Given the description of an element on the screen output the (x, y) to click on. 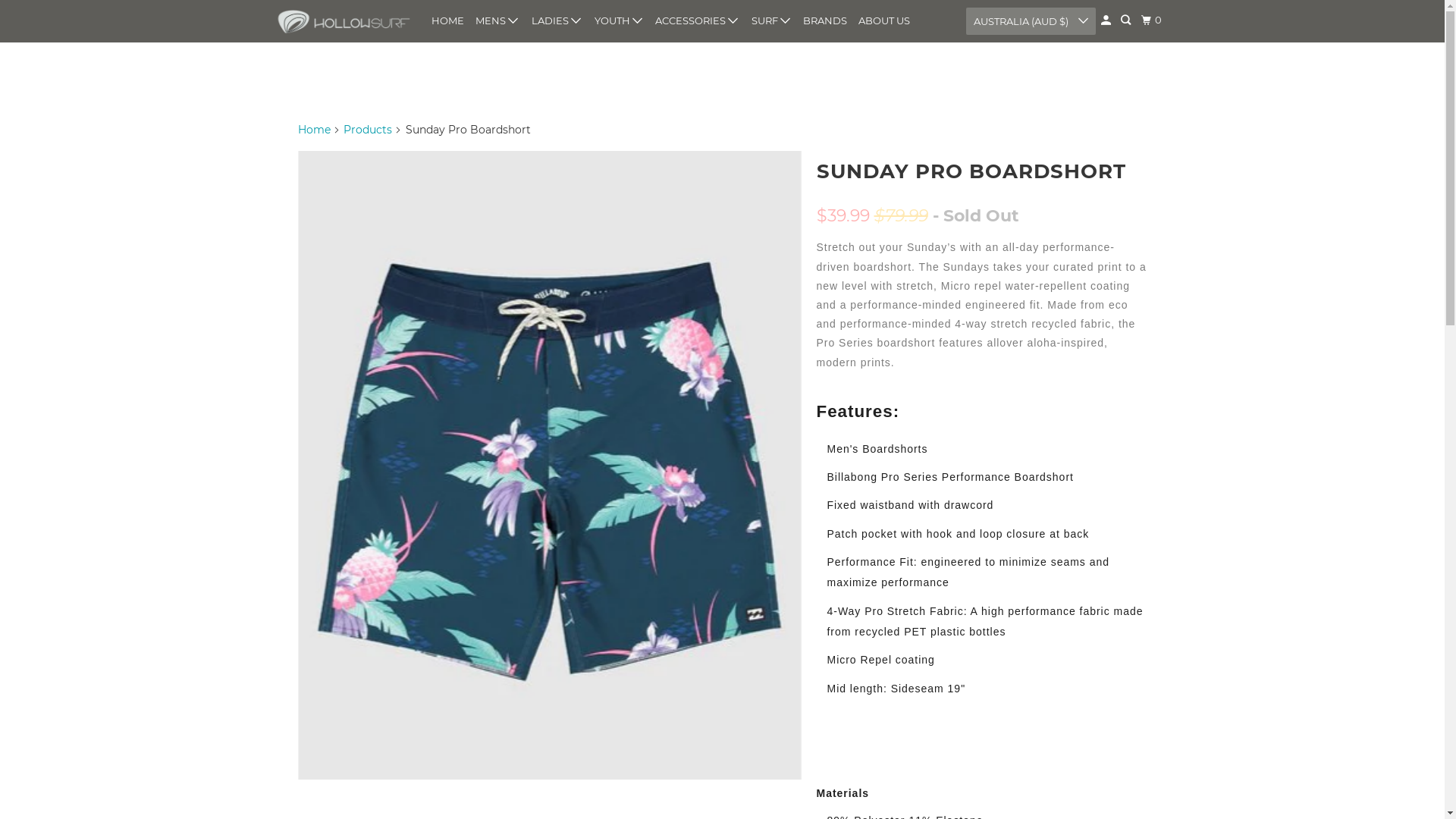
Hollow Surf Shop Element type: hover (342, 21)
Search Element type: hover (1126, 20)
ABOUT US Element type: text (884, 20)
HOME Element type: text (447, 20)
Home Element type: text (313, 129)
SUNDAY PRO BOARDSHORT Element type: text (970, 171)
Sunday Pro Boardshort Element type: hover (548, 464)
Products Element type: text (367, 129)
AUSTRALIA (AUD $) Element type: text (1030, 20)
BRANDS Element type: text (825, 20)
0 Element type: text (1152, 20)
My Account  Element type: hover (1107, 20)
